Given the description of an element on the screen output the (x, y) to click on. 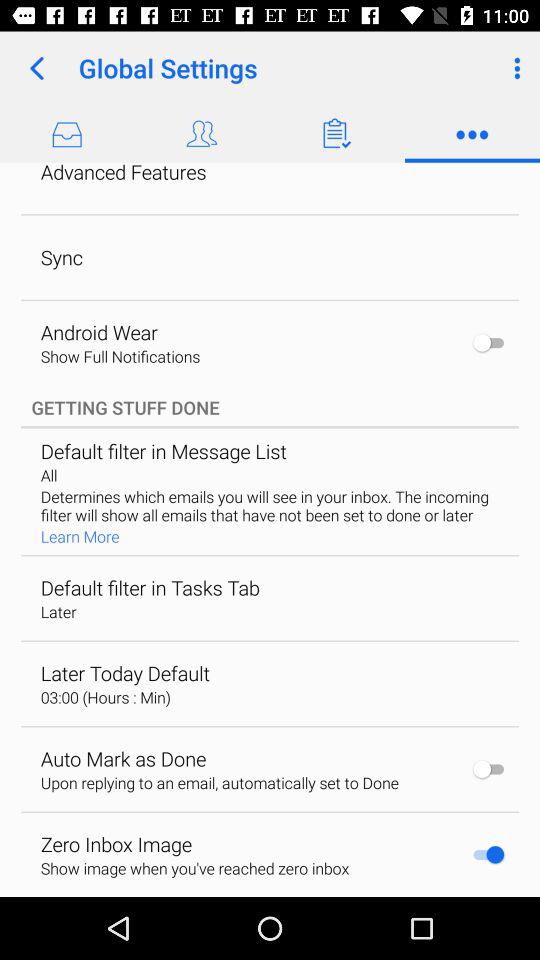
click the learn more (79, 536)
